Given the description of an element on the screen output the (x, y) to click on. 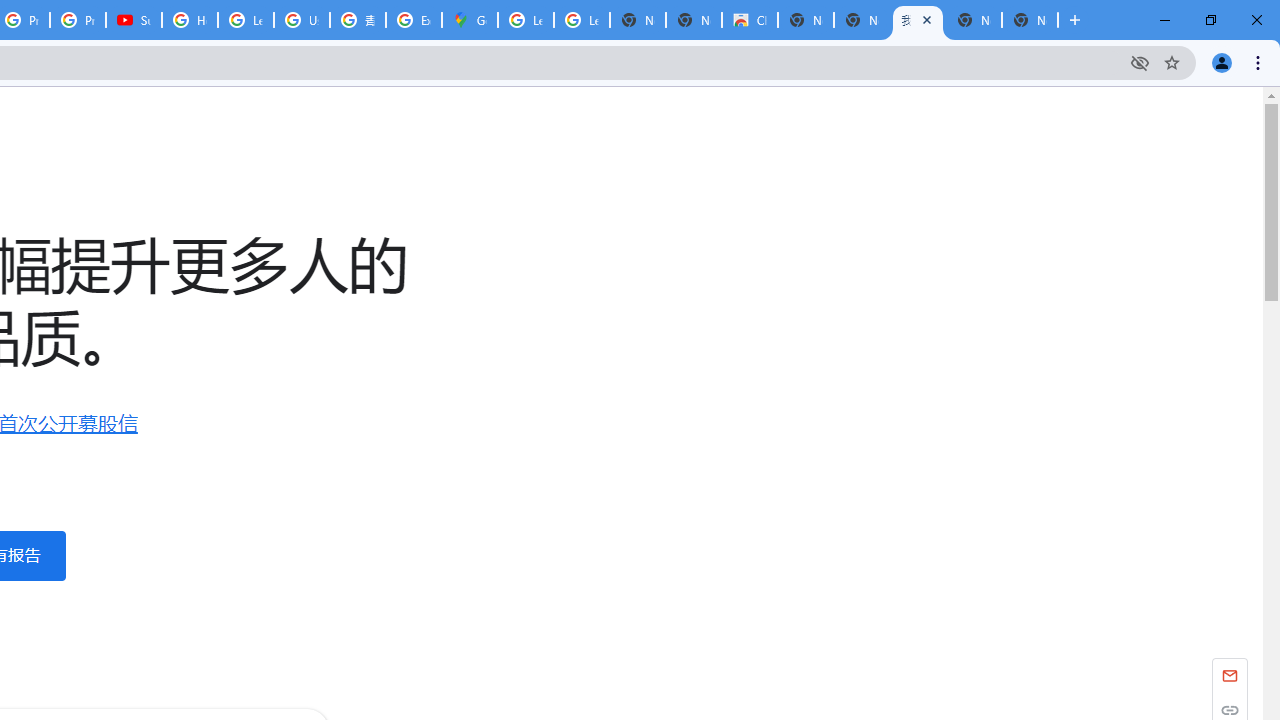
Subscriptions - YouTube (134, 20)
Chrome Web Store (749, 20)
Google Maps (469, 20)
How Chrome protects your passwords - Google Chrome Help (189, 20)
New Tab (1030, 20)
